Given the description of an element on the screen output the (x, y) to click on. 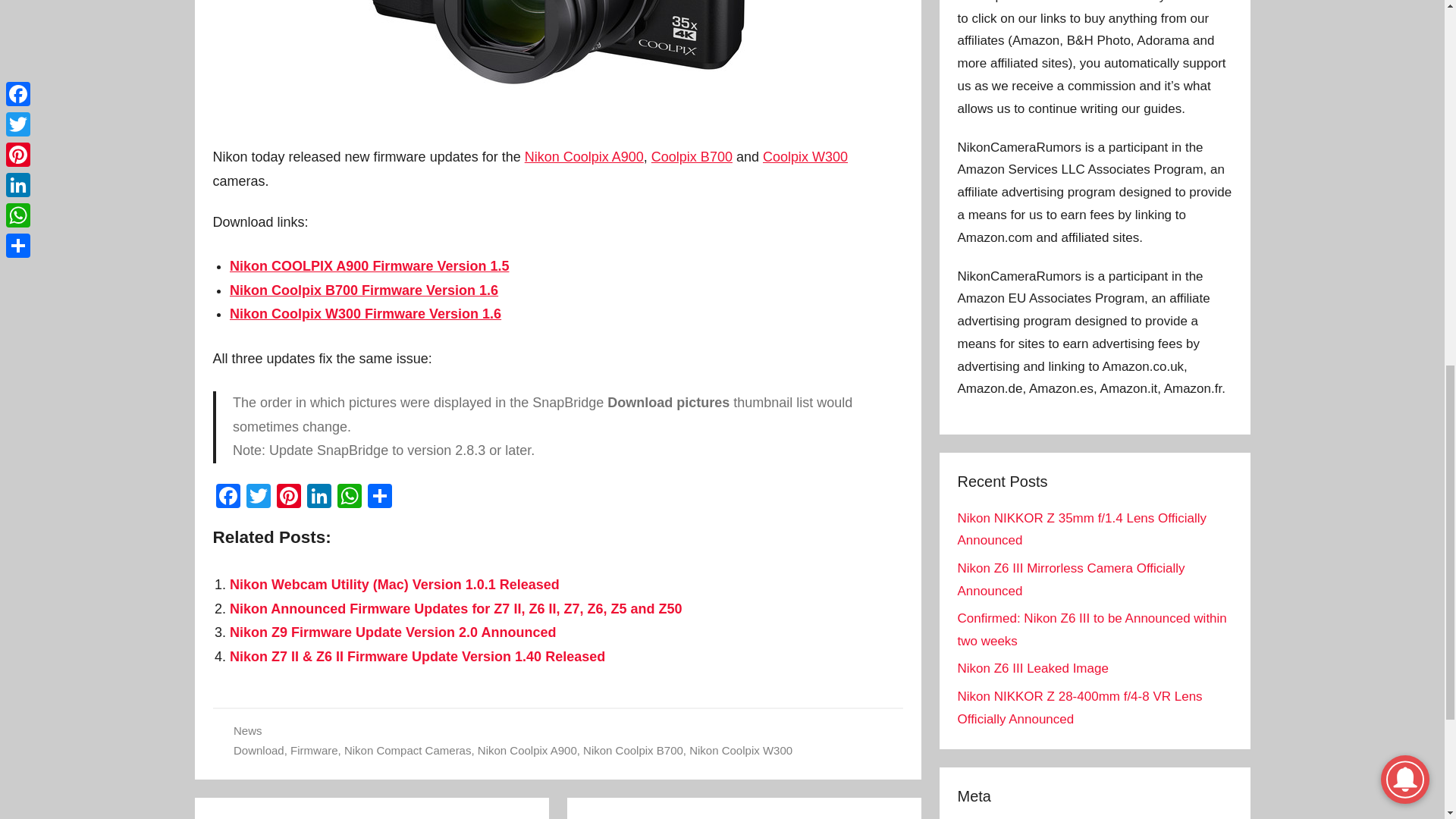
LinkedIn (317, 497)
Nikon Z9 Firmware Update Version 2.0 Announced (393, 631)
Nikon Z9 Firmware Update Version 2.0 Announced (393, 631)
Firmware (313, 749)
Pinterest (287, 497)
Twitter (258, 497)
Nikon COOLPIX A900 Firmware Version 1.5 (369, 265)
Nikon Coolpix W300 Firmware Version 1.6 (365, 313)
News (247, 730)
Nikon Coolpix A900 (583, 156)
WhatsApp (348, 497)
Coolpix B700 (691, 156)
Pinterest (287, 497)
